Given the description of an element on the screen output the (x, y) to click on. 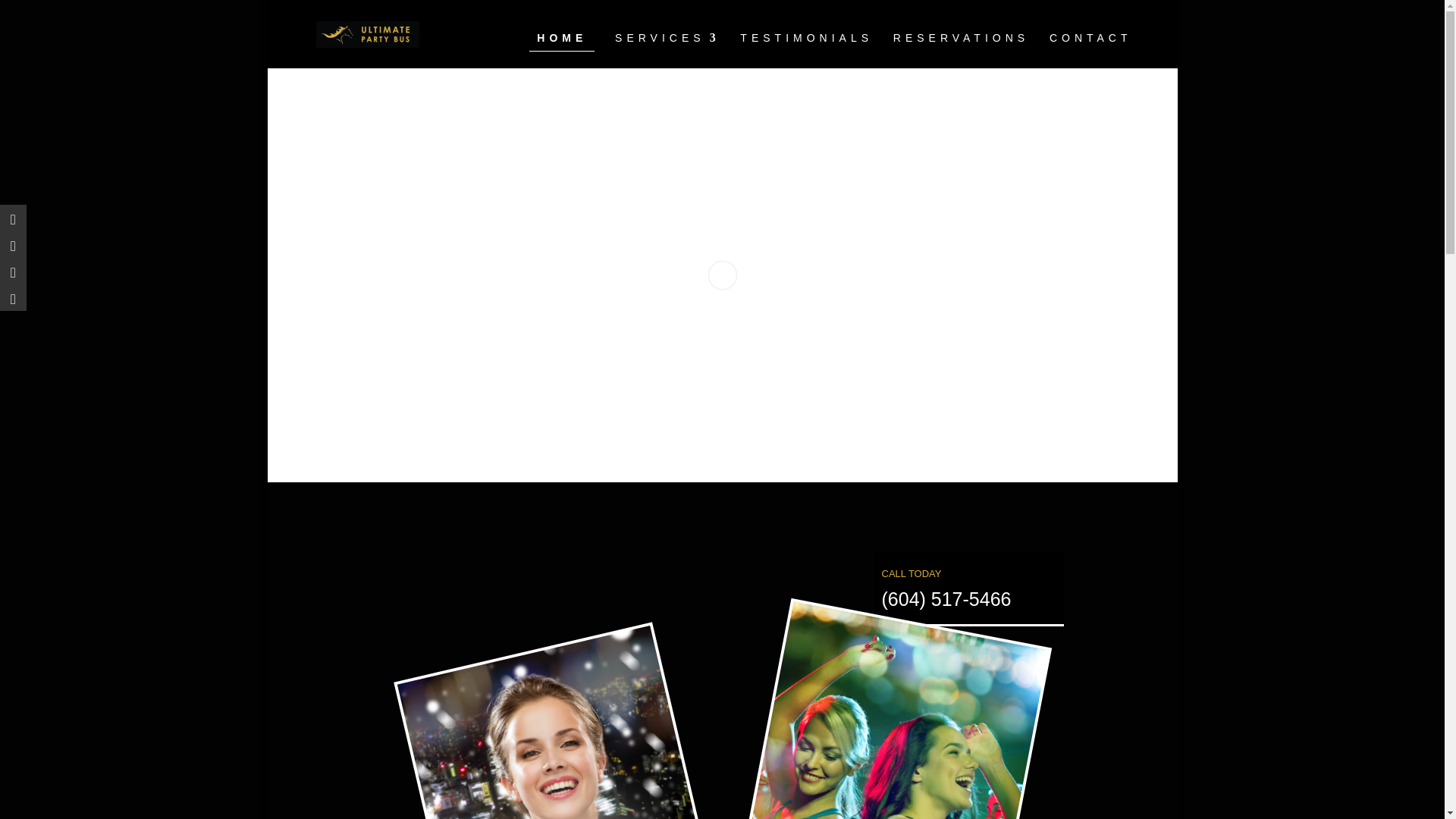
SERVICES (667, 49)
HOME (561, 38)
CONTACT (1090, 49)
TESTIMONIALS (805, 49)
RESERVATIONS (961, 49)
